Given the description of an element on the screen output the (x, y) to click on. 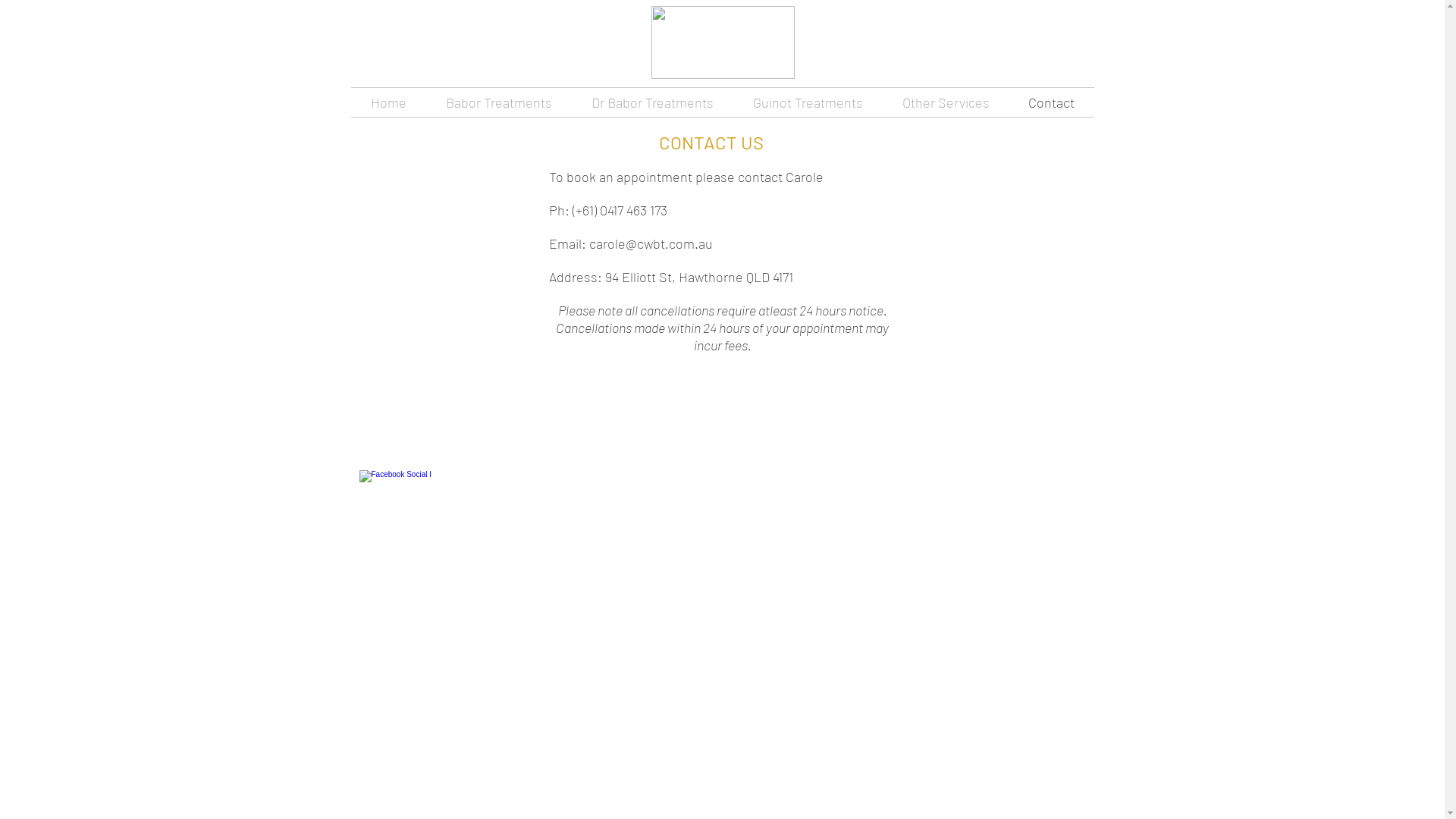
Home Element type: text (387, 101)
Dr Babor Treatments Element type: text (652, 101)
Contact Element type: text (1050, 101)
Other Services Element type: text (945, 101)
carole@cwbt.com.au Element type: text (650, 243)
Babor Treatments Element type: text (498, 101)
Guinot Treatments Element type: text (806, 101)
